Given the description of an element on the screen output the (x, y) to click on. 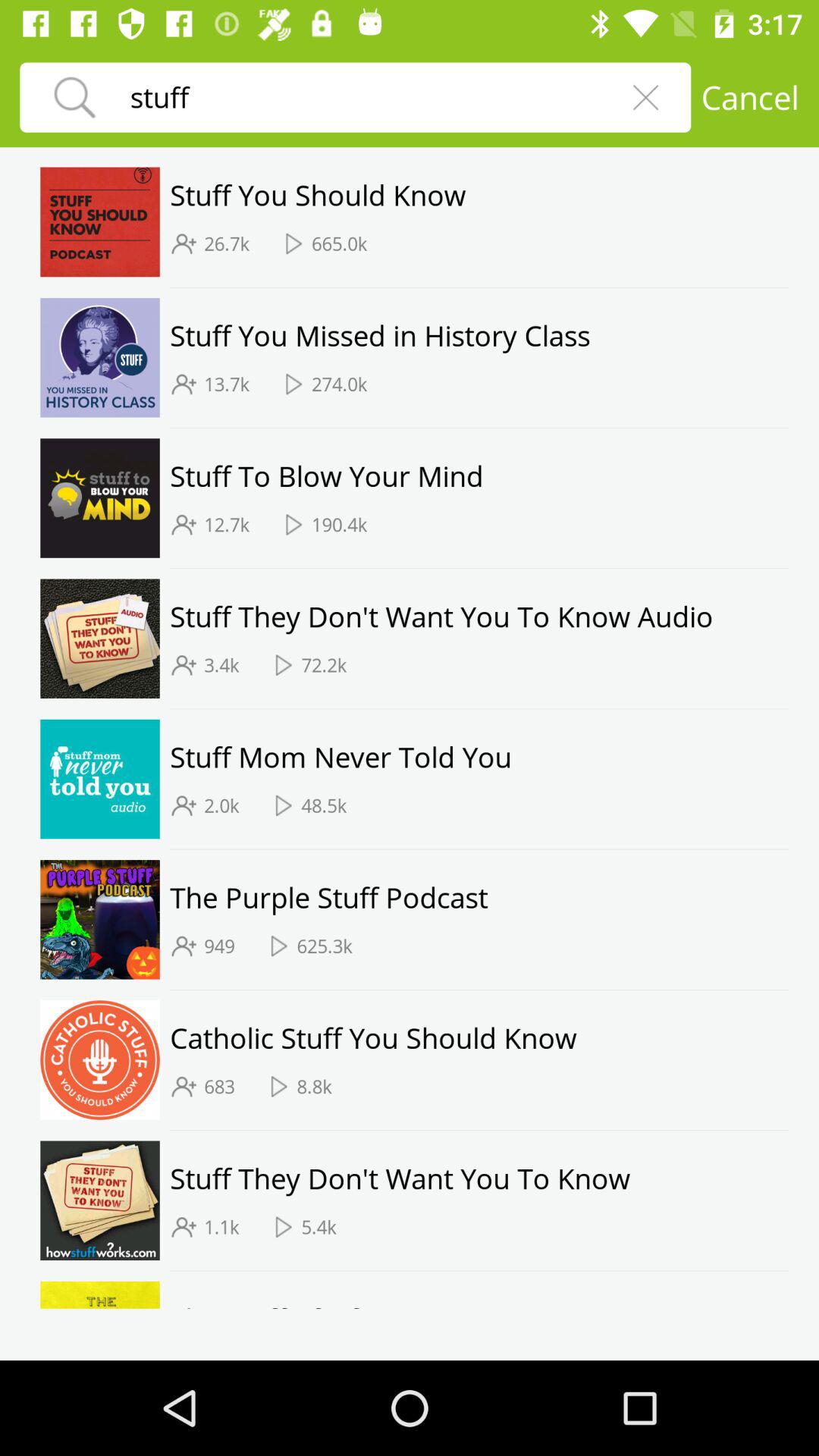
select the icon above the stuff mom never icon (478, 708)
